Given the description of an element on the screen output the (x, y) to click on. 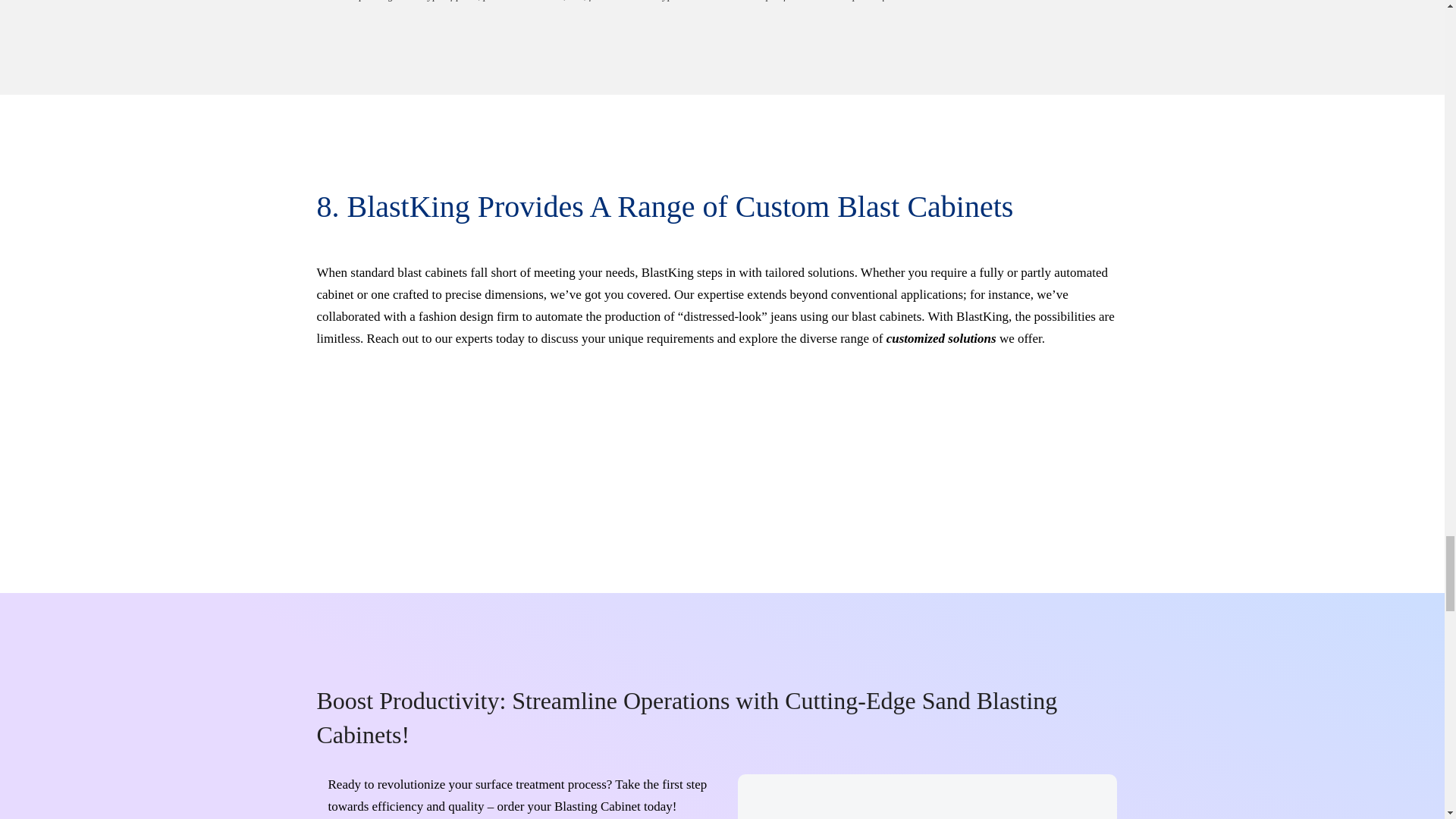
Shot Blasting Machine Working Video (926, 796)
